Given the description of an element on the screen output the (x, y) to click on. 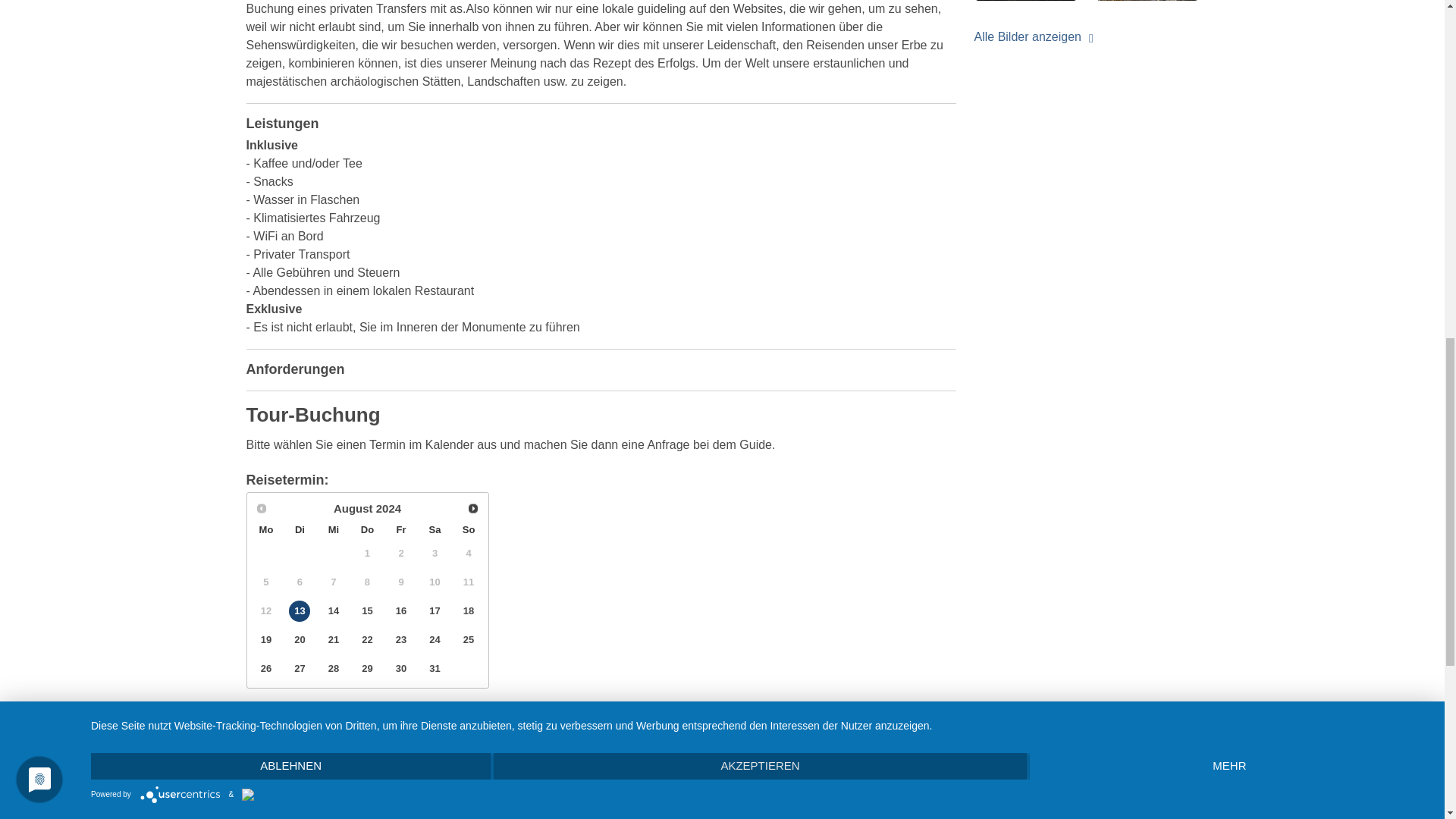
23 (401, 639)
Next (473, 508)
25 (468, 639)
Buchen (418, 748)
Prev (261, 508)
Mittwoch (334, 529)
13 (299, 610)
24 (435, 639)
Next (473, 508)
15 (366, 610)
